Given the description of an element on the screen output the (x, y) to click on. 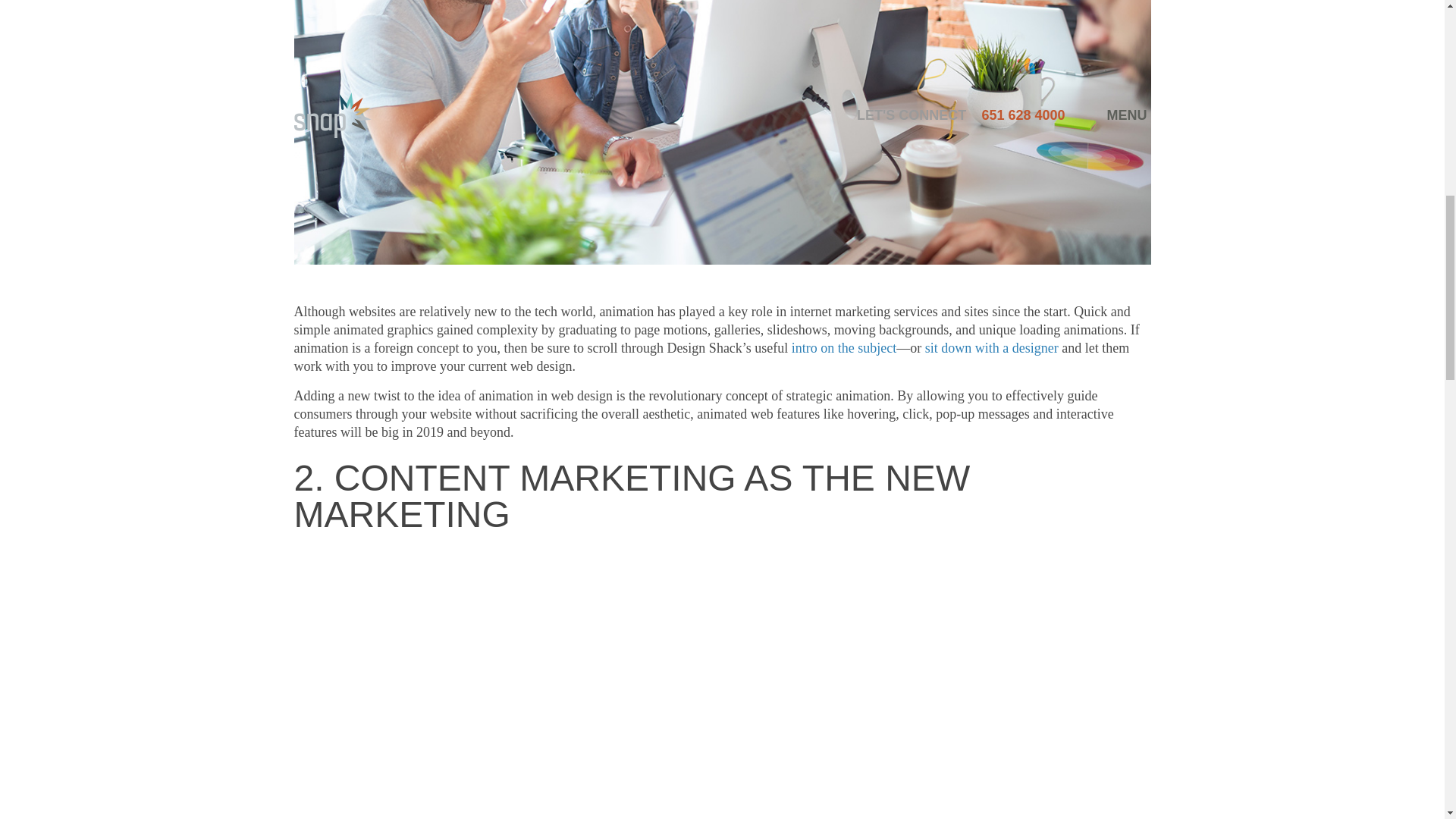
intro on the subject (841, 347)
sit down with a designer (991, 347)
